Given the description of an element on the screen output the (x, y) to click on. 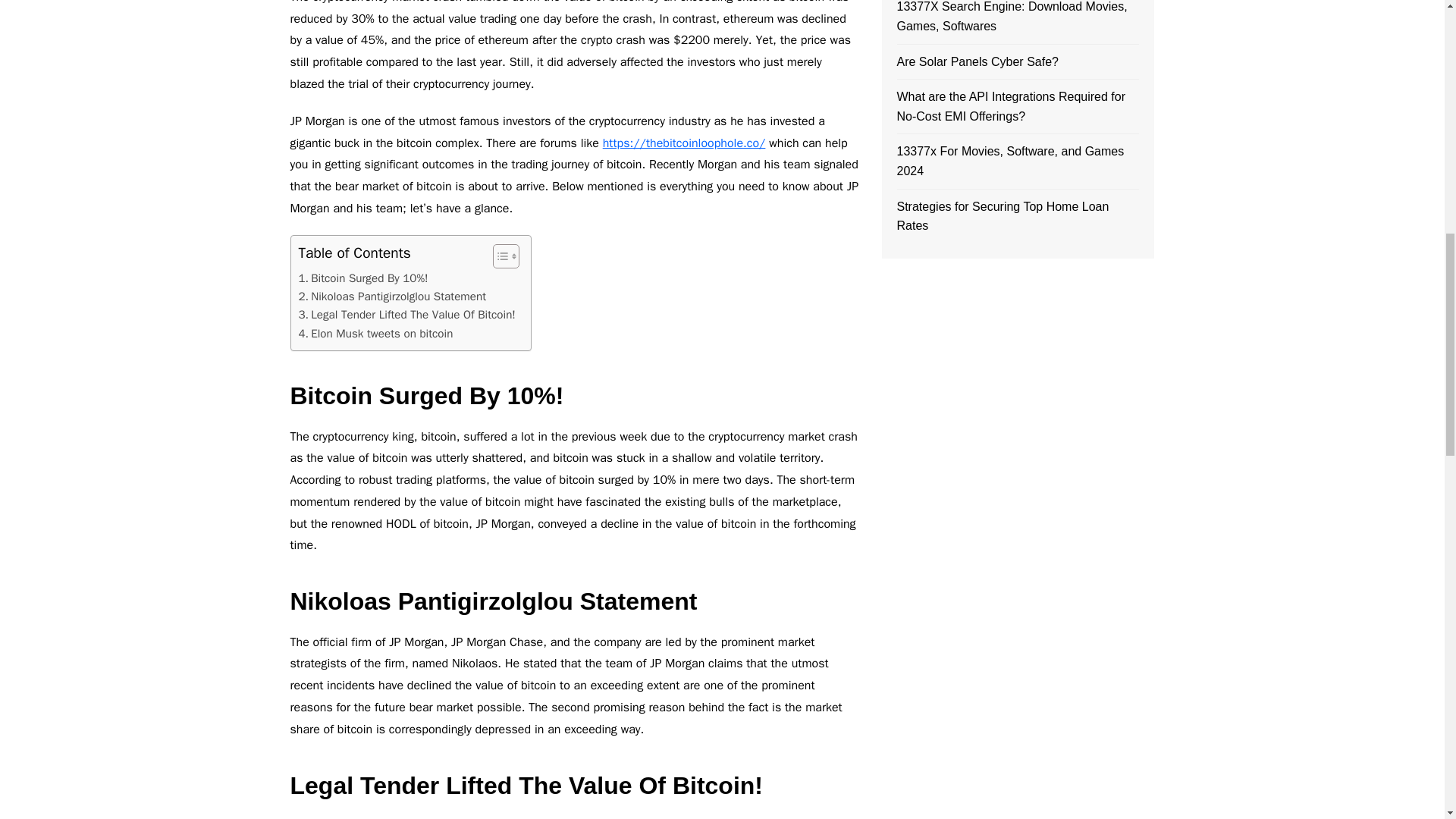
Elon Musk tweets on bitcoin (375, 333)
Legal Tender Lifted The Value Of Bitcoin! (406, 314)
Nikoloas Pantigirzolglou Statement (392, 296)
